Given the description of an element on the screen output the (x, y) to click on. 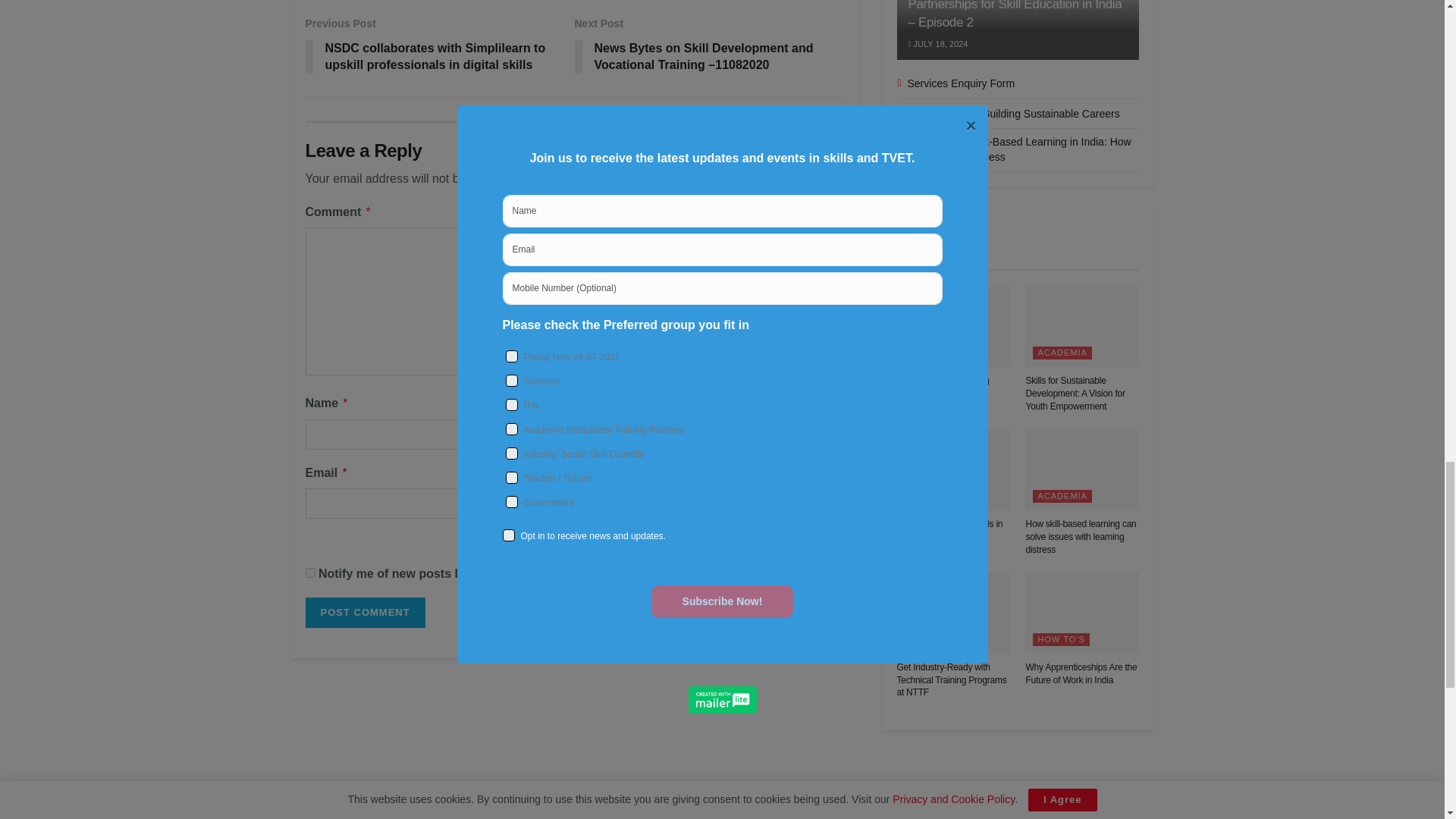
Post Comment (364, 612)
subscribe (580, 540)
subscribe (309, 573)
